Given the description of an element on the screen output the (x, y) to click on. 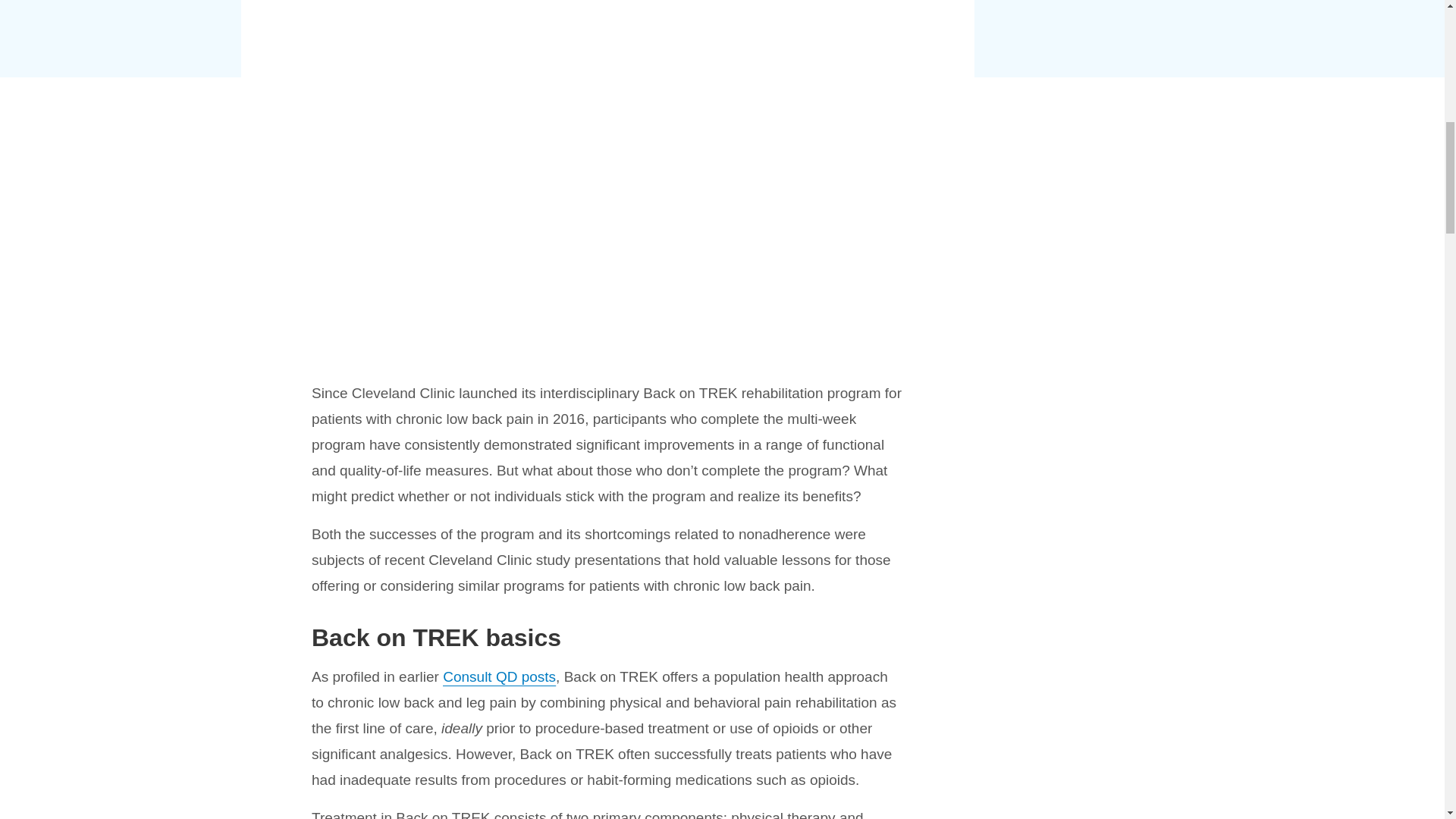
Consult QD posts (499, 676)
